Given the description of an element on the screen output the (x, y) to click on. 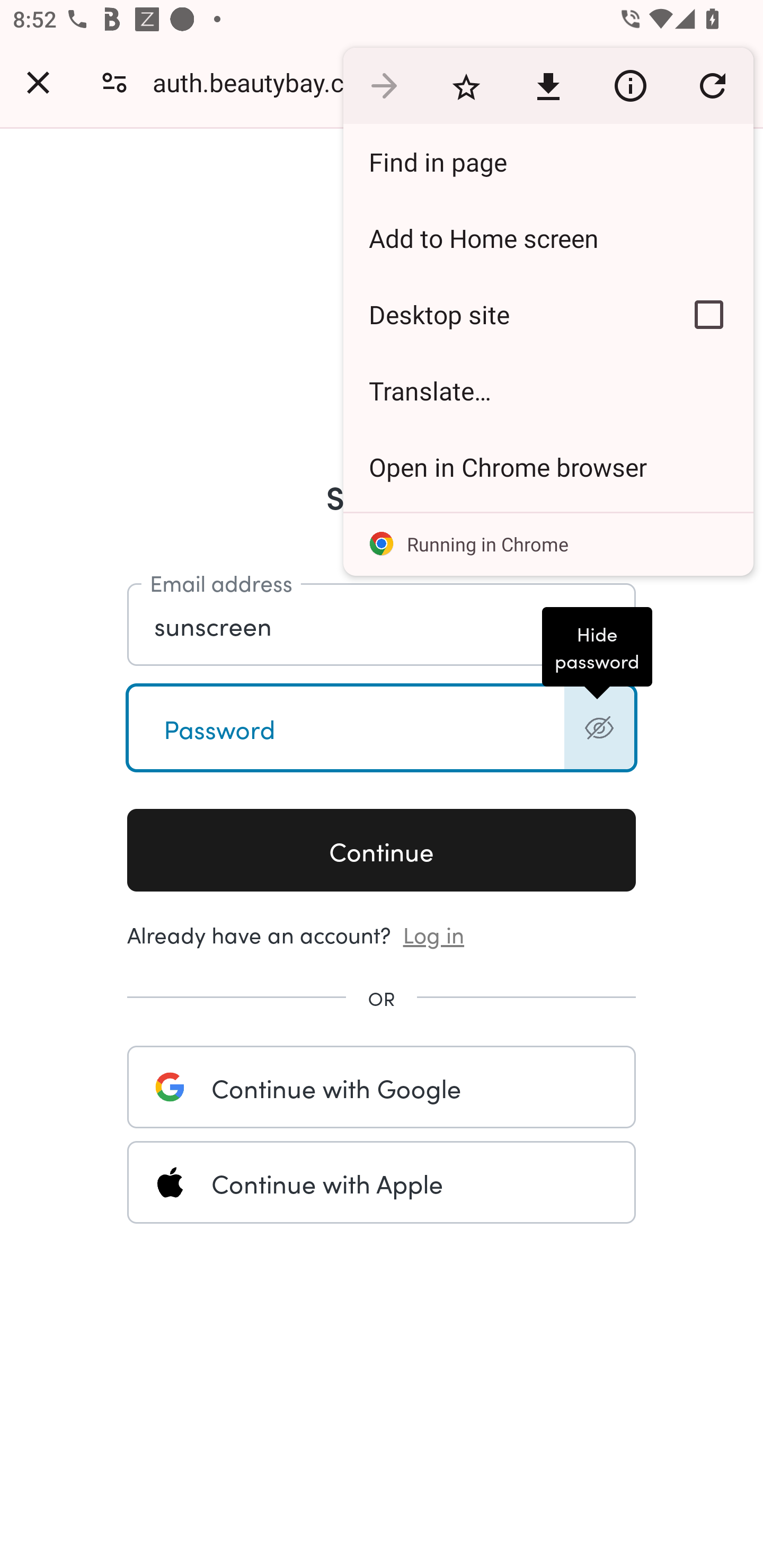
Go forward (383, 85)
Bookmark (465, 85)
Download this page (548, 85)
View site information (630, 85)
Refresh (712, 85)
Find in page (548, 161)
Add to Home screen (548, 237)
Desktop site Turn on Request desktop site (503, 313)
Translate… (548, 390)
Open in Chrome browser (548, 466)
